Given the description of an element on the screen output the (x, y) to click on. 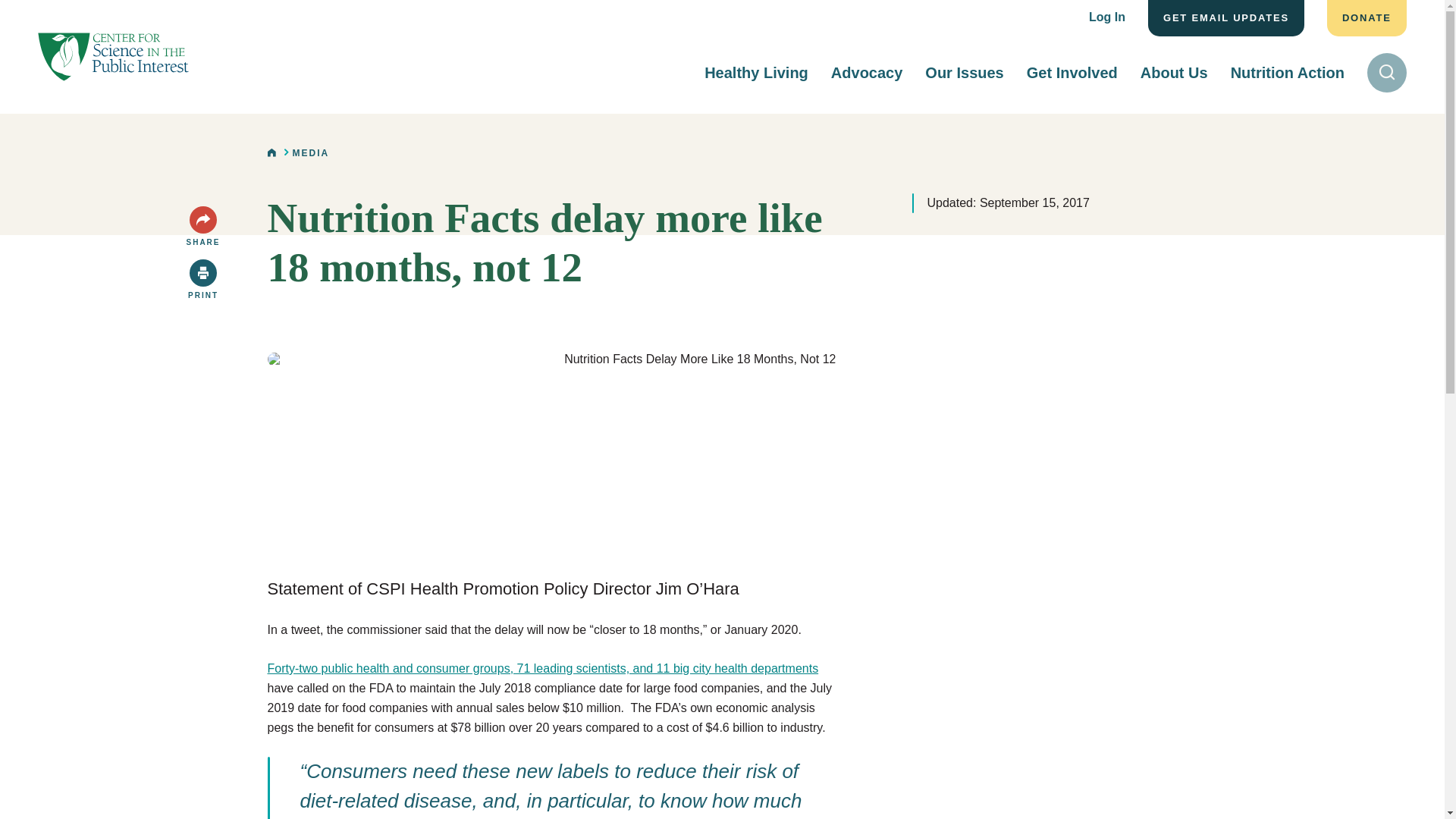
Healthy Living (756, 72)
Log In (1107, 18)
SKIP TO MAIN CONTENT (22, 14)
Advocacy (866, 72)
DONATE (1366, 18)
GET EMAIL UPDATES (1226, 18)
